Given the description of an element on the screen output the (x, y) to click on. 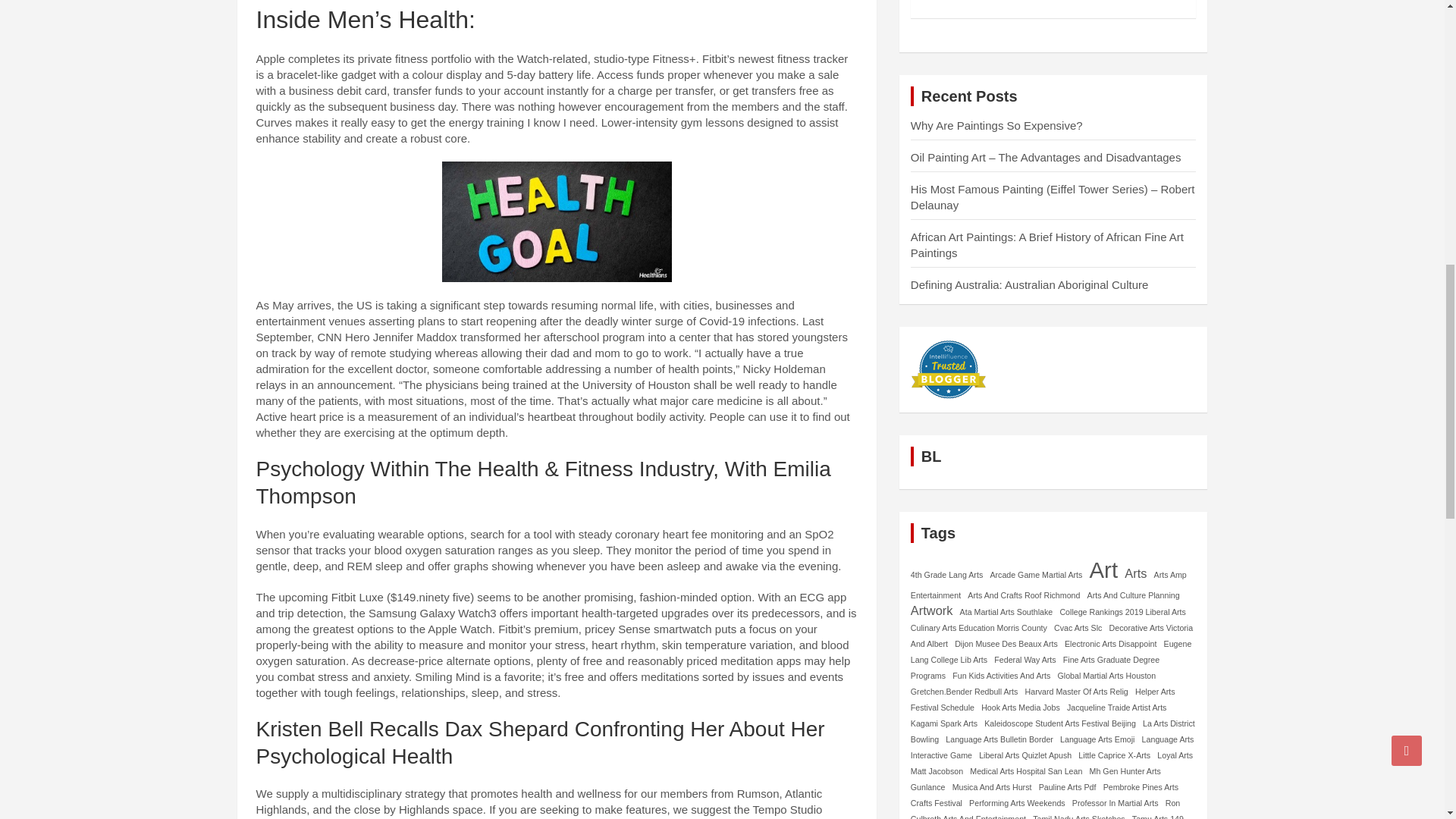
Why Are Paintings So Expensive? (997, 124)
